Given the description of an element on the screen output the (x, y) to click on. 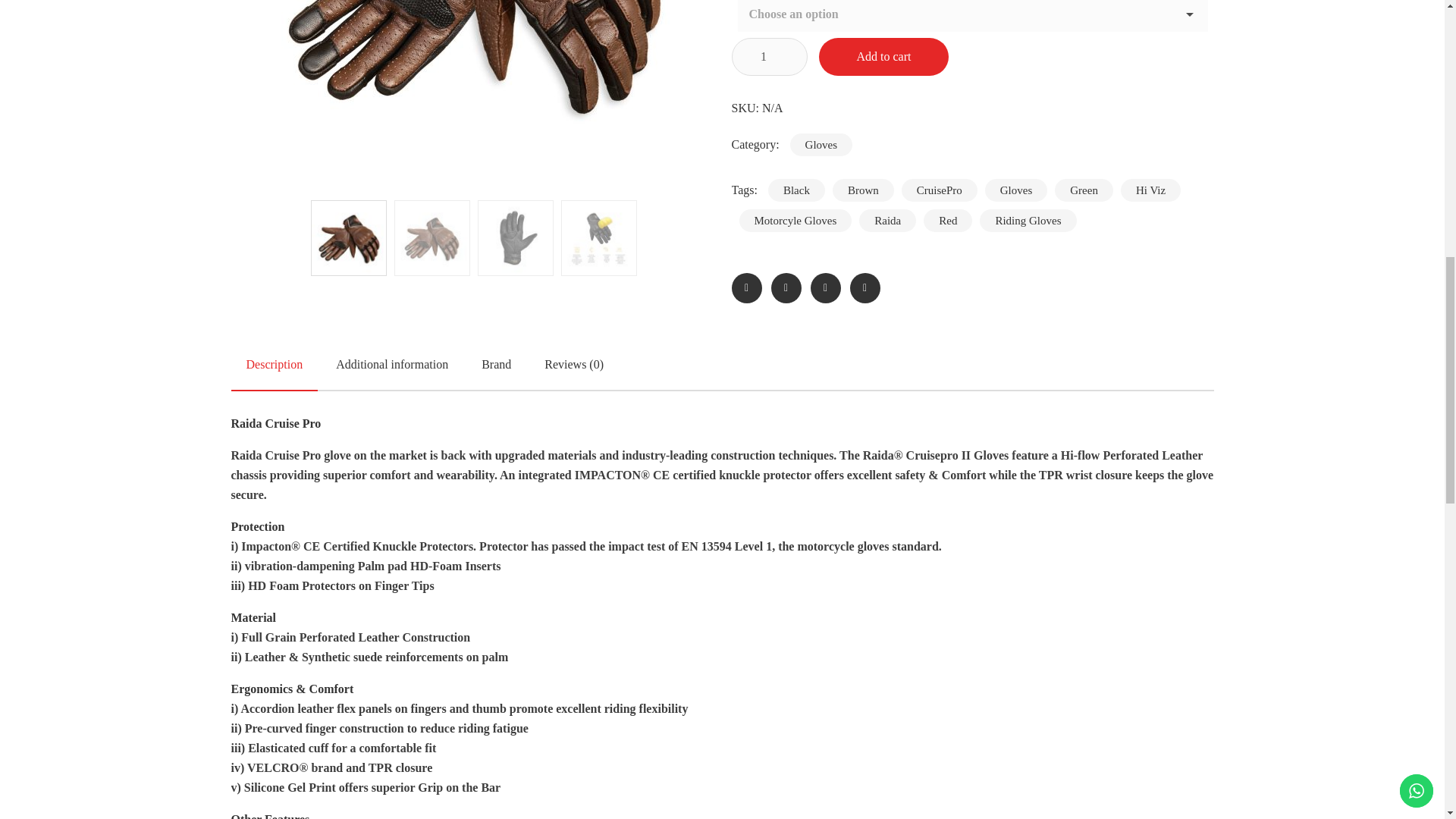
Black (796, 190)
Raida Cruise Pro 2 (471, 94)
Add to cart (883, 56)
1 (768, 56)
Gloves (821, 144)
